Given the description of an element on the screen output the (x, y) to click on. 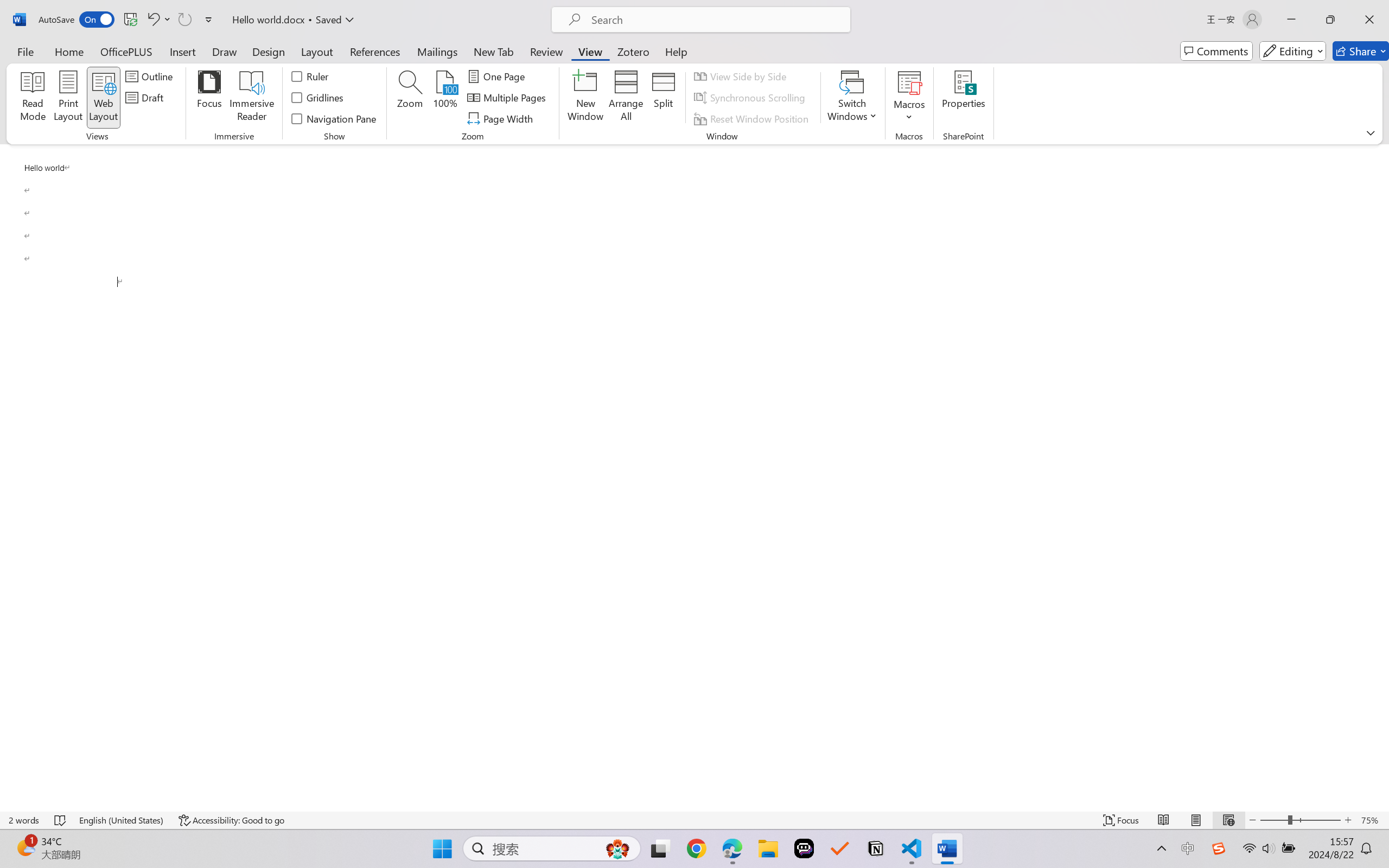
One Page (497, 75)
Properties (963, 97)
Zoom In (1348, 819)
Split (663, 97)
Undo Paragraph Formatting (158, 19)
Can't Repeat (184, 19)
Customize Quick Access Toolbar (208, 19)
Immersive Reader (251, 97)
Macros (909, 97)
Editing (1292, 50)
Spelling and Grammar Check No Errors (60, 819)
View Side by Side (741, 75)
Design (268, 51)
Gridlines (317, 97)
